Given the description of an element on the screen output the (x, y) to click on. 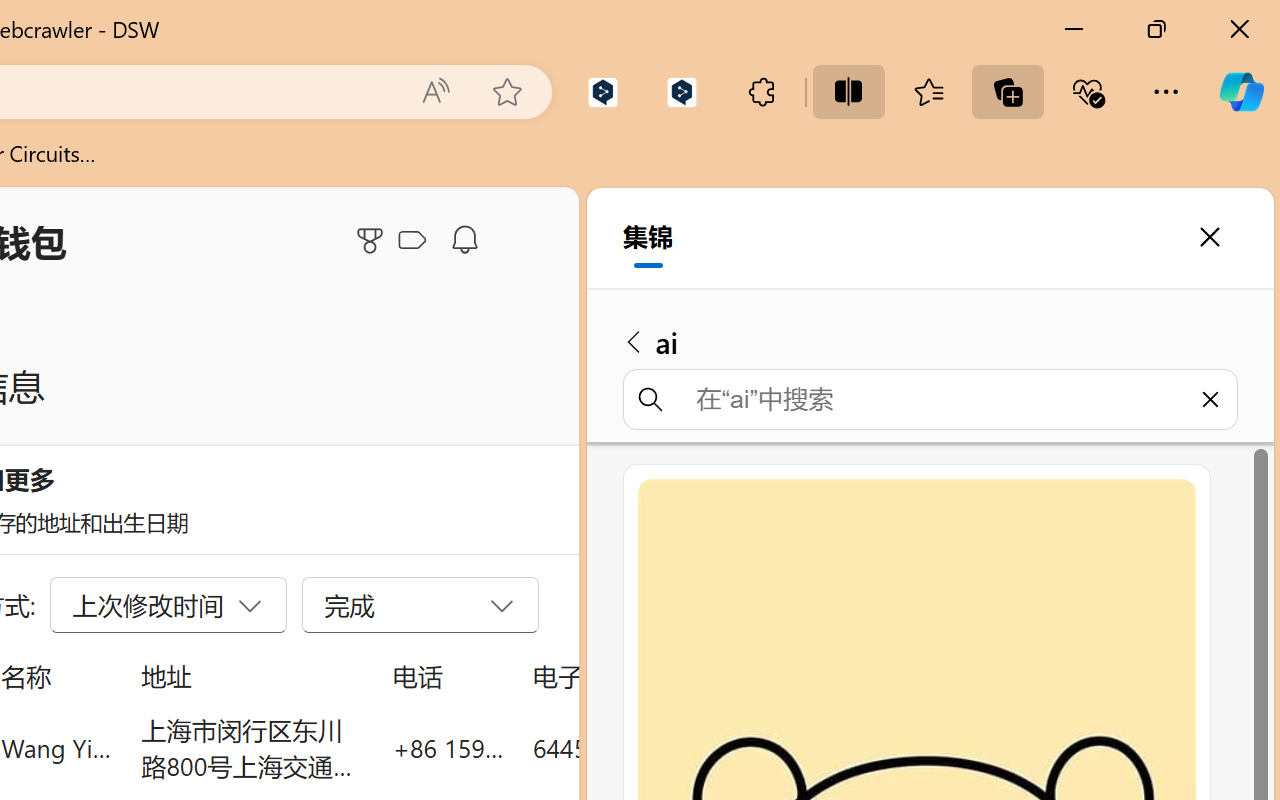
Microsoft Cashback (415, 241)
Microsoft Rewards (373, 240)
